Given the description of an element on the screen output the (x, y) to click on. 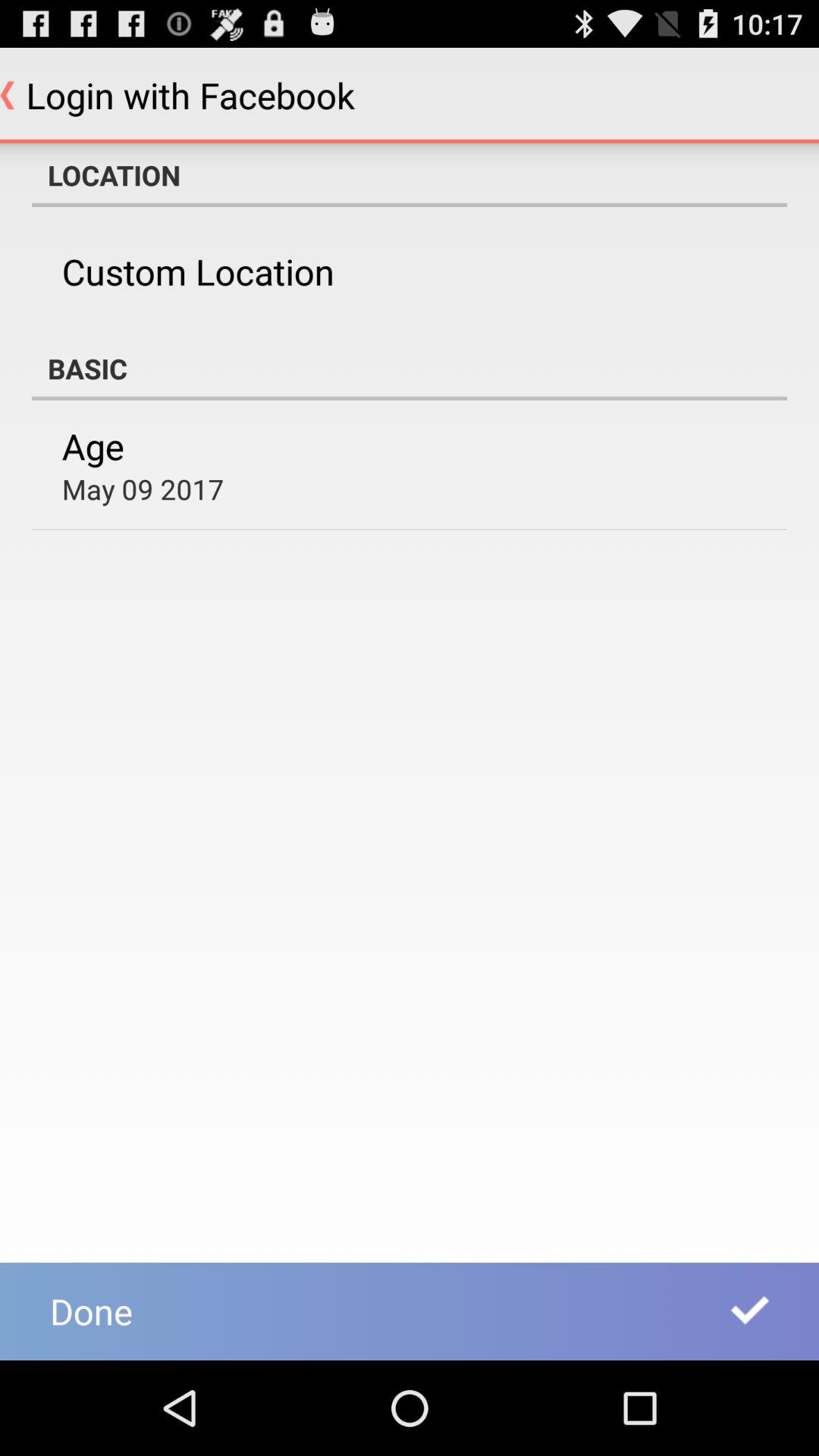
launch the custom location item (197, 271)
